Given the description of an element on the screen output the (x, y) to click on. 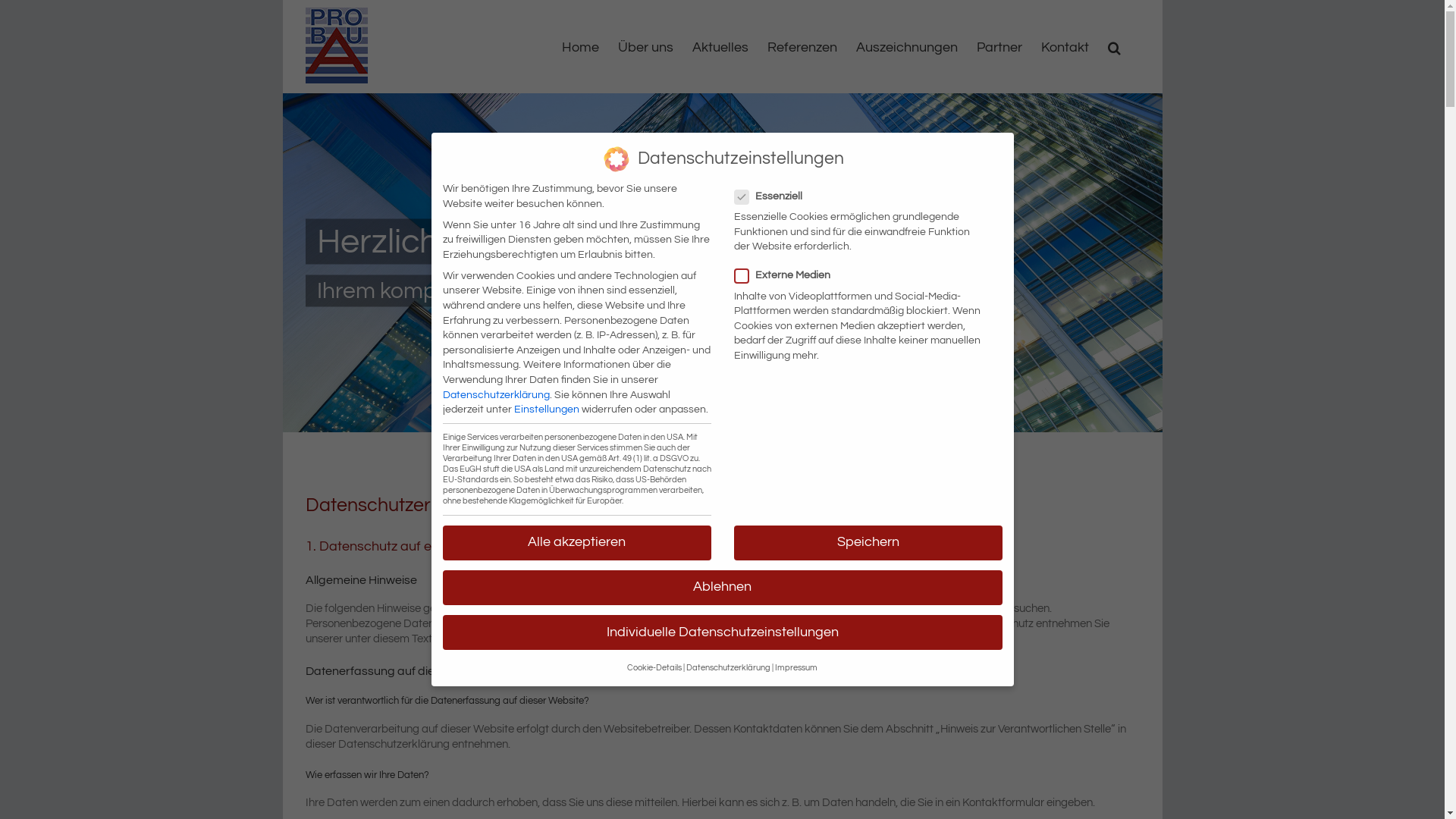
Aktuelles Element type: text (719, 46)
Ablehnen Element type: text (722, 587)
Suche Element type: hover (1113, 46)
Partner Element type: text (999, 46)
Referenzen Element type: text (802, 46)
Individuelle Datenschutzeinstellungen Element type: text (722, 632)
Speichern Element type: text (868, 542)
Cookie-Details Element type: text (654, 667)
Home Element type: text (579, 46)
Auszeichnungen Element type: text (906, 46)
Kontakt Element type: text (1064, 46)
Einstellungen Element type: text (546, 409)
Alle akzeptieren Element type: text (576, 542)
Impressum Element type: text (796, 667)
